Given the description of an element on the screen output the (x, y) to click on. 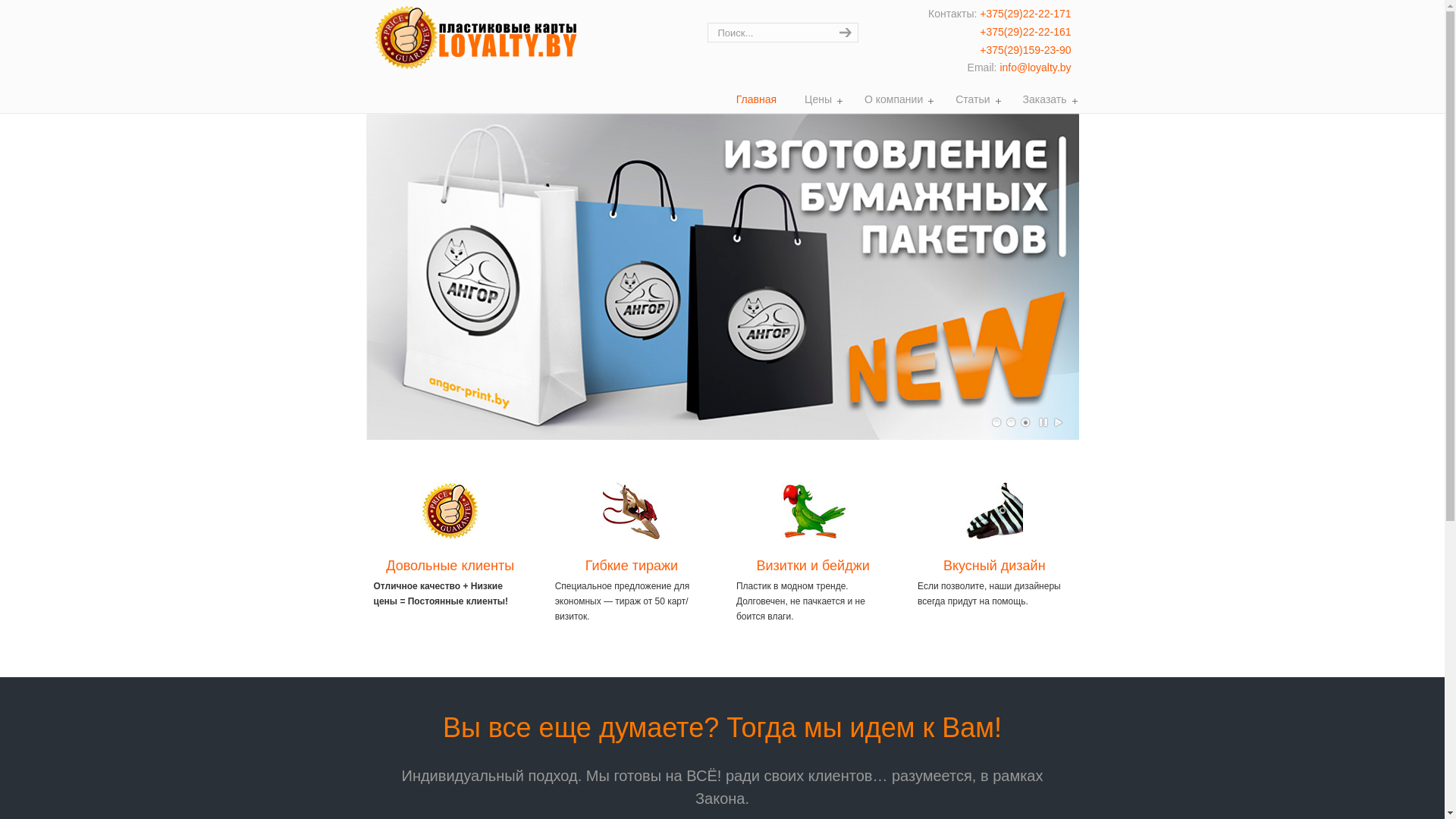
1 Element type: text (996, 422)
3 Element type: text (1025, 422)
+375(29)22-22-171 Element type: text (1024, 13)
info@loyalty.by Element type: text (1034, 67)
2 Element type: text (1010, 422)
+375(29)22-22-161 Element type: text (1024, 31)
+375(29)159-23-90 Element type: text (1024, 49)
